Given the description of an element on the screen output the (x, y) to click on. 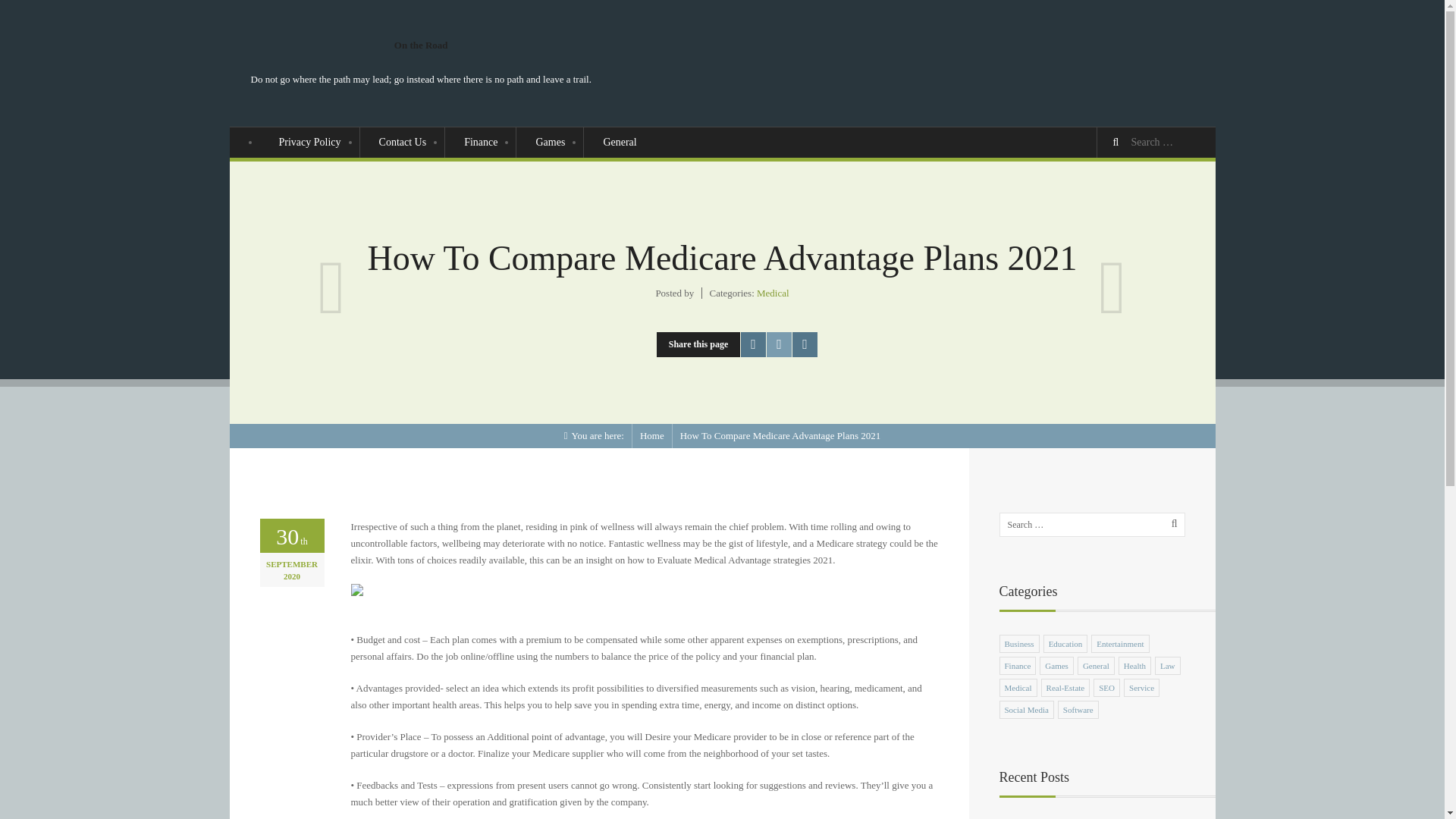
Search (1173, 523)
Search (1118, 142)
2020 (291, 578)
Home (651, 435)
Entertainment (1119, 643)
Games (1056, 665)
Privacy Policy (309, 142)
Health (1134, 665)
General (619, 142)
Search (1173, 523)
On the Road (651, 435)
Next Page (1112, 276)
Previous Page (332, 276)
Search (1118, 142)
On the Road (421, 44)
